Given the description of an element on the screen output the (x, y) to click on. 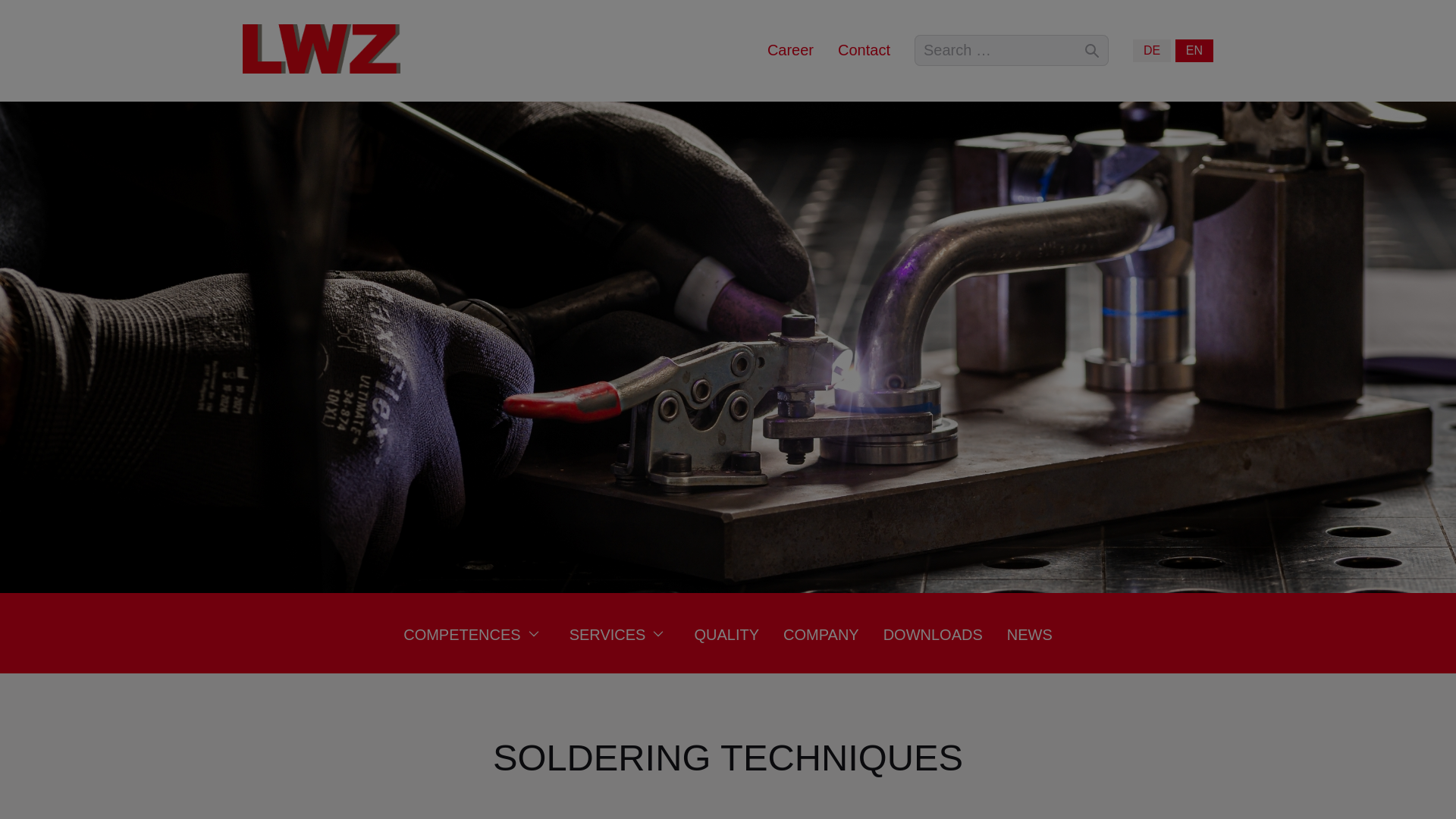
EN (1193, 50)
Contact (863, 49)
DE (1151, 50)
Career (790, 49)
